Given the description of an element on the screen output the (x, y) to click on. 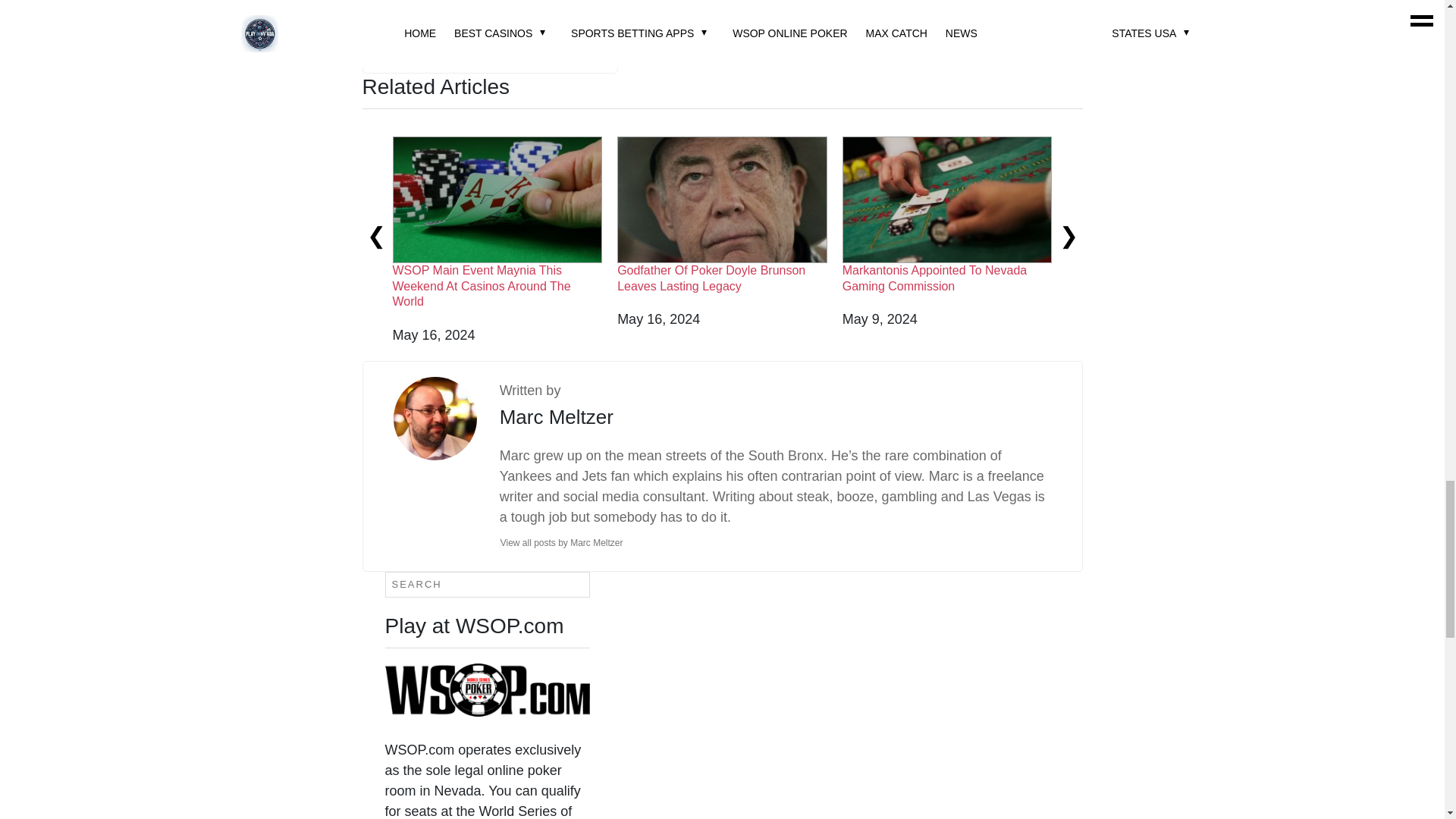
Godfather Of Poker Doyle Brunson Leaves Lasting Legacy (711, 277)
